Given the description of an element on the screen output the (x, y) to click on. 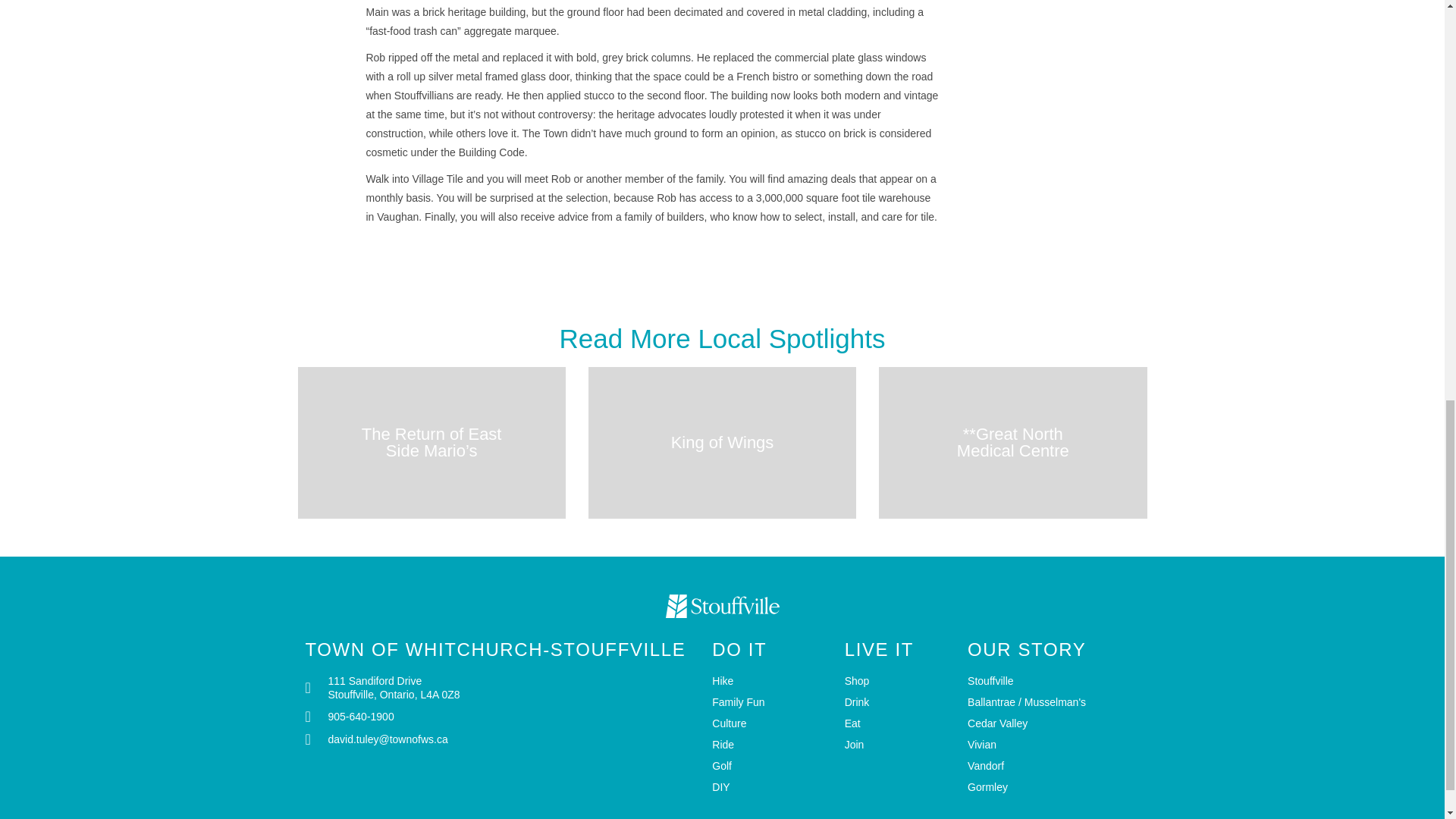
Drink (898, 702)
Gormley (1053, 786)
Ride (769, 744)
Vivian (1053, 744)
Family Fun (769, 702)
Stouffville (1053, 680)
905-640-1900 (500, 716)
Join (898, 744)
Eat (898, 723)
Culture (769, 723)
